Given the description of an element on the screen output the (x, y) to click on. 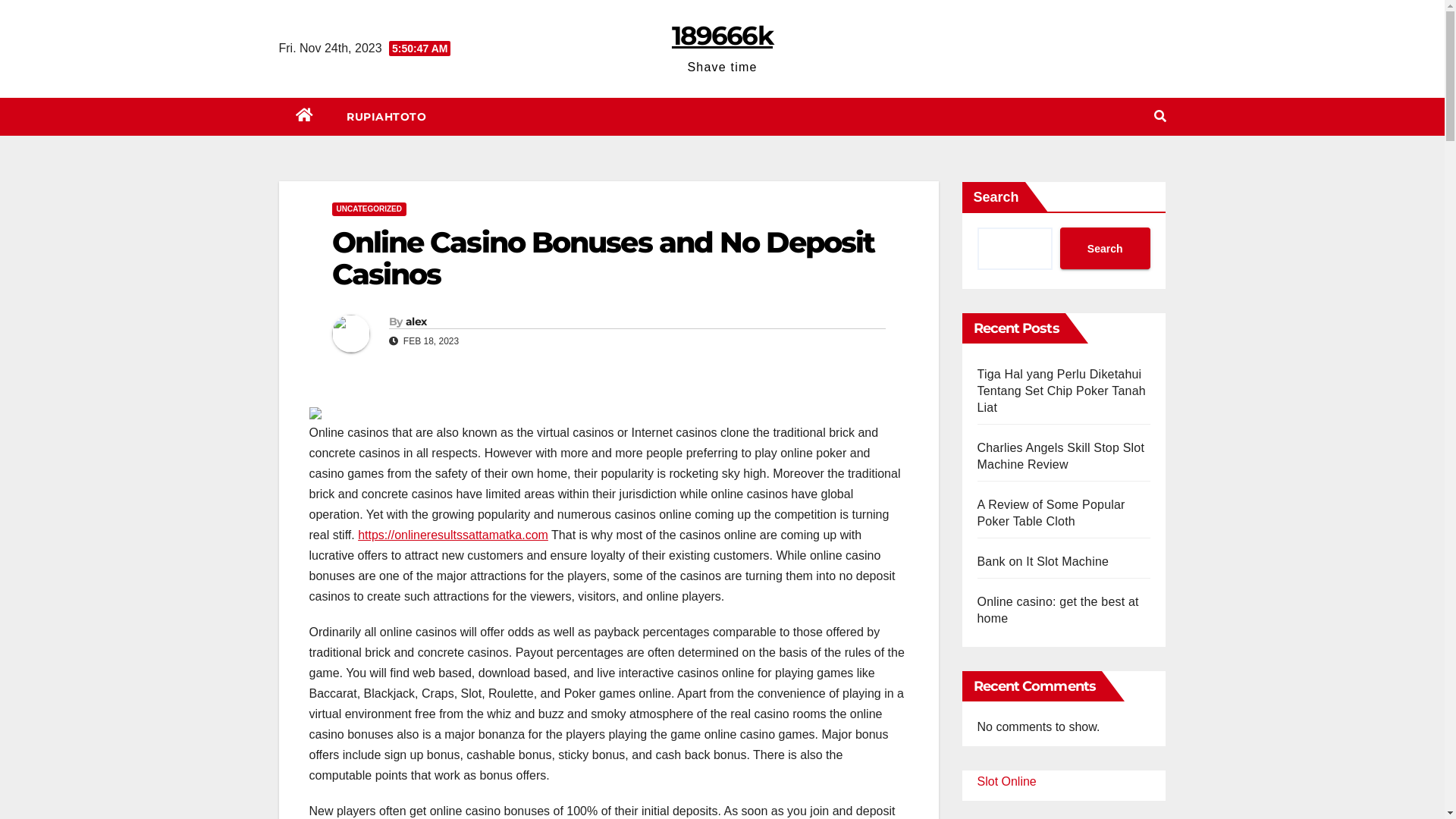
alex Element type: text (415, 321)
RUPIAHTOTO Element type: text (385, 116)
Charlies Angels Skill Stop Slot Machine Review Element type: text (1060, 455)
A Review of Some Popular Poker Table Cloth Element type: text (1050, 512)
Online casino: get the best at home Element type: text (1057, 609)
Bank on It Slot Machine Element type: text (1042, 561)
Slot Online Element type: text (1005, 781)
https://onlineresultssattamatka.com Element type: text (452, 534)
Online Casino Bonuses and No Deposit Casinos Element type: text (603, 257)
Search Element type: text (1105, 248)
UNCATEGORIZED Element type: text (369, 209)
189666k Element type: text (721, 35)
